Given the description of an element on the screen output the (x, y) to click on. 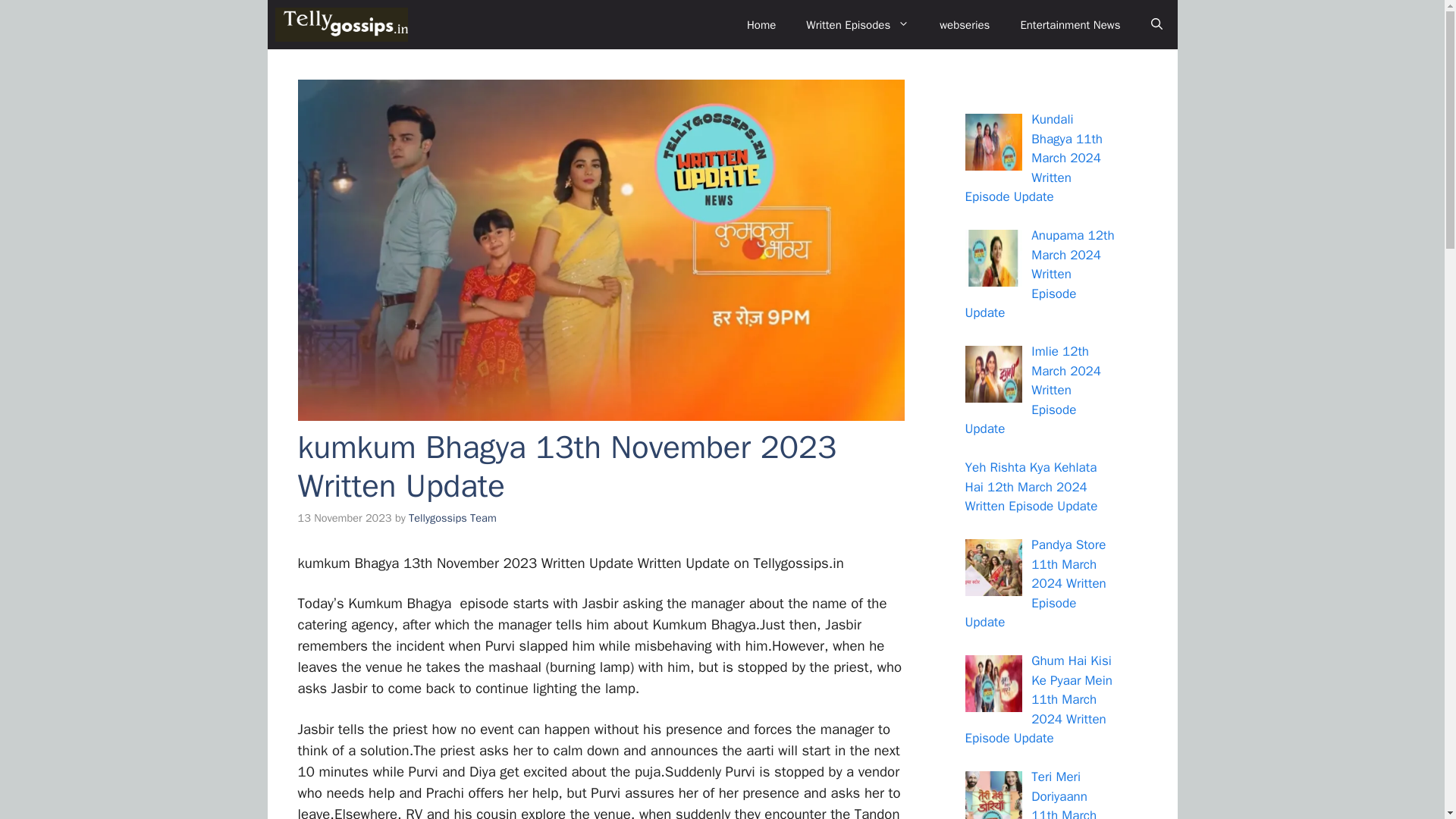
Tellygossips.in (341, 24)
Written Episodes (857, 23)
View all posts by Tellygossips Team (452, 517)
Home (761, 23)
